Given the description of an element on the screen output the (x, y) to click on. 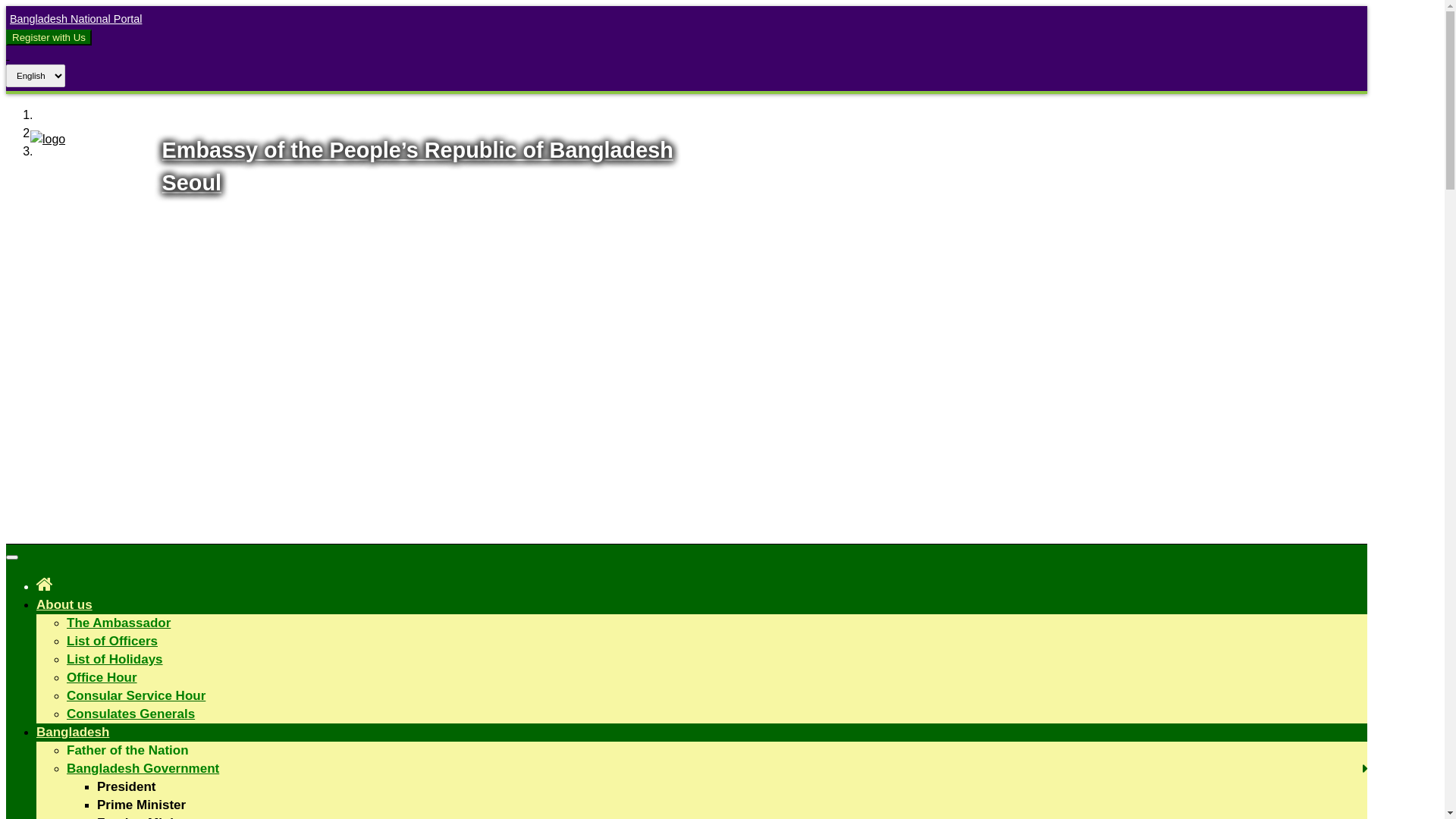
President Element type: text (126, 786)
Consulates Generals Element type: text (130, 713)
About us Element type: text (64, 604)
Home Element type: hover (44, 584)
Bangladesh Government Element type: text (142, 768)
Prime Minister Element type: text (141, 804)
Register with Us Element type: text (48, 37)
Register with Us Element type: text (48, 37)
Father of the Nation Element type: text (127, 750)
Consular Service Hour Element type: text (135, 695)
List of Officers Element type: text (111, 640)
The Ambassador Element type: text (118, 622)
Bangladesh Element type: text (72, 731)
Bangladesh National Portal Element type: text (73, 18)
Logo Element type: hover (47, 138)
List of Holidays Element type: text (114, 659)
Office Hour Element type: text (101, 677)
